Given the description of an element on the screen output the (x, y) to click on. 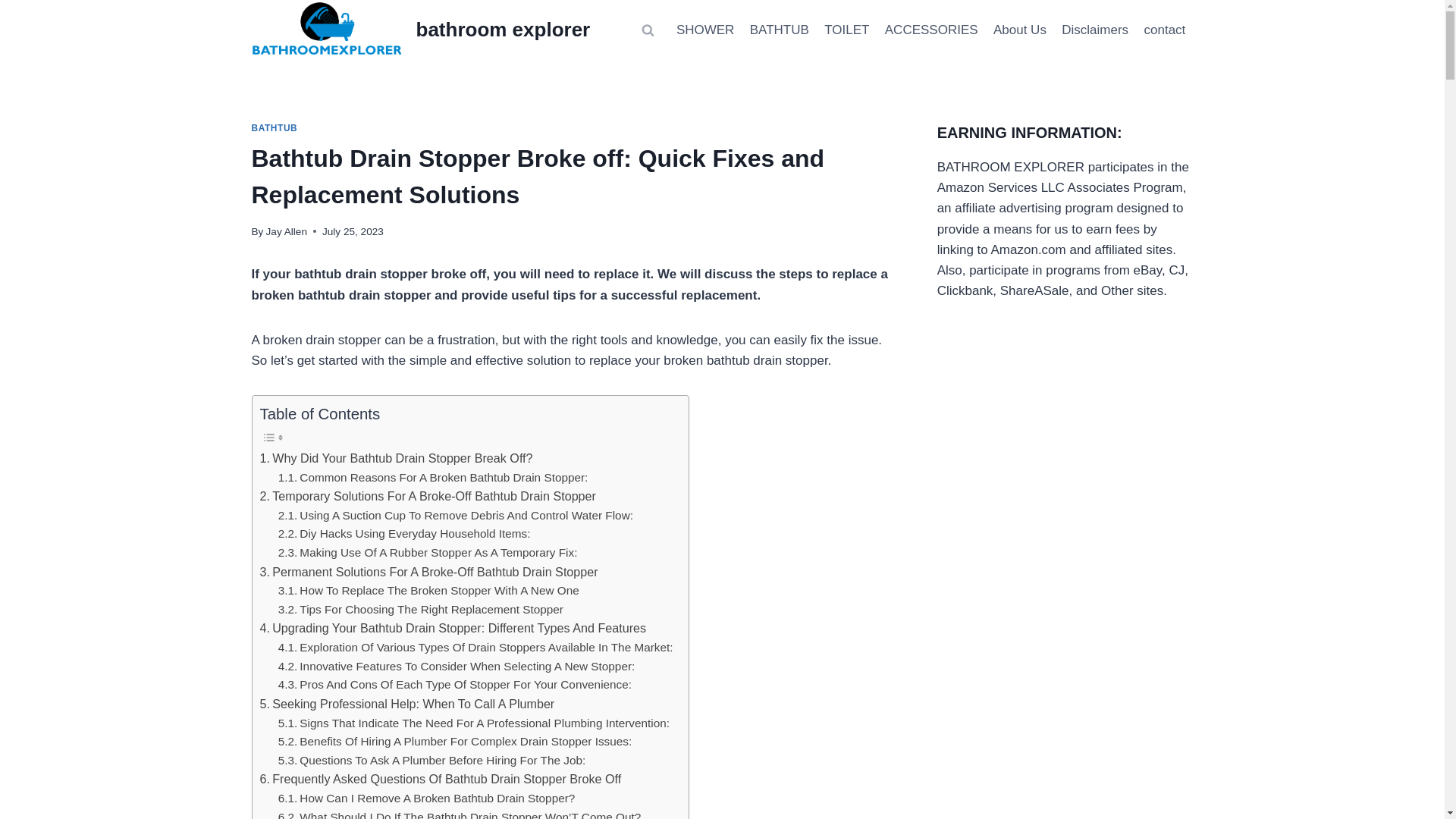
TOILET (846, 30)
Tips For Choosing The Right Replacement Stopper (420, 609)
Questions To Ask A Plumber Before Hiring For The Job: (432, 760)
Making Use Of A Rubber Stopper As A Temporary Fix: (428, 552)
How Can I Remove A Broken Bathtub Drain Stopper? (426, 798)
Common Reasons For A Broken Bathtub Drain Stopper: (433, 477)
Pros And Cons Of Each Type Of Stopper For Your Convenience: (454, 684)
Why Did Your Bathtub Drain Stopper Break Off? (395, 458)
Temporary Solutions For A Broke-Off Bathtub Drain Stopper (427, 496)
Tips For Choosing The Right Replacement Stopper (420, 609)
ACCESSORIES (931, 30)
